Given the description of an element on the screen output the (x, y) to click on. 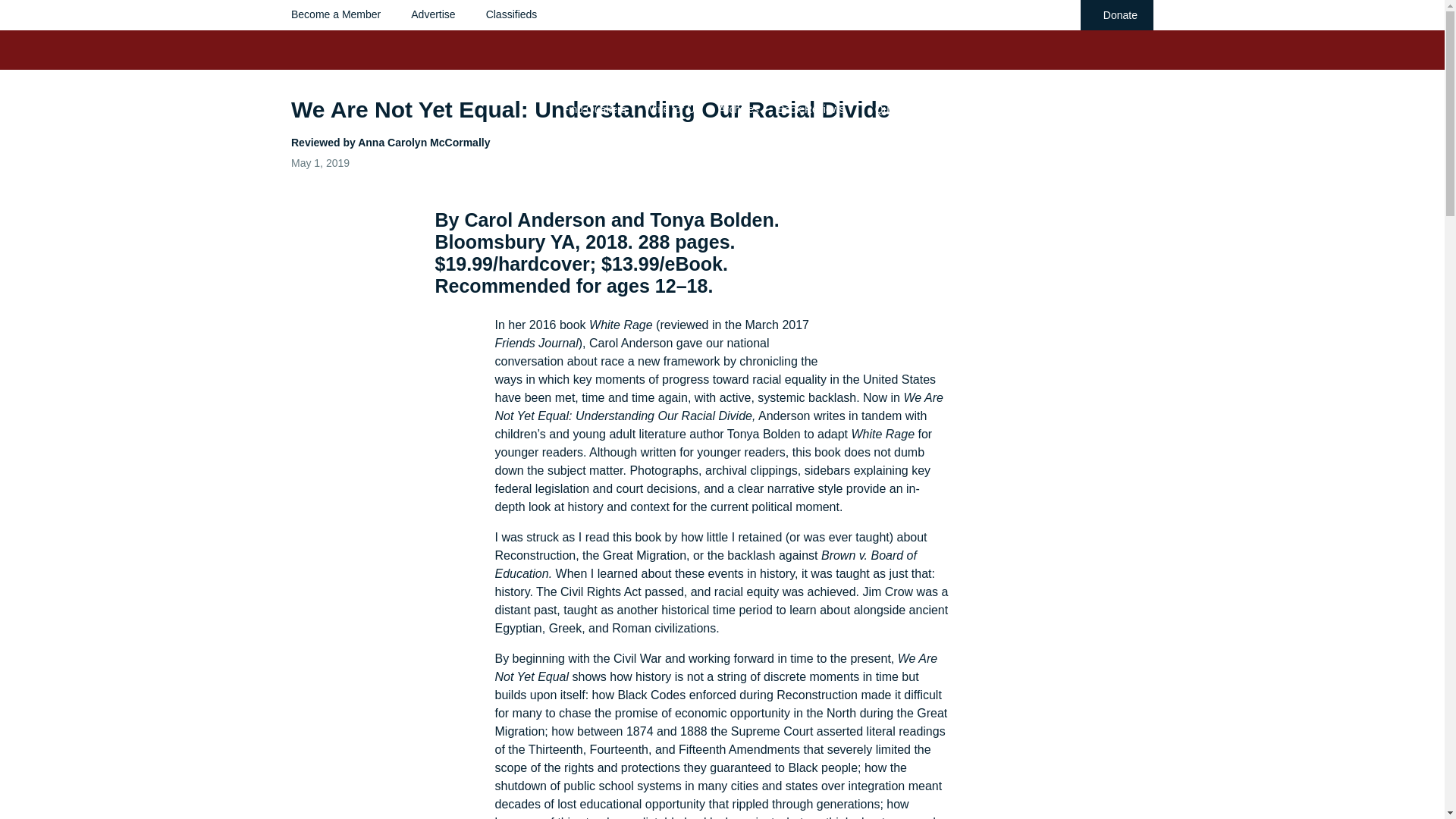
About (1102, 108)
Classifieds (511, 14)
Quaker.org (1043, 108)
Find Quakers (594, 108)
QuakerSpeak (907, 108)
Book Reviews (810, 108)
Become a Member (335, 14)
Archives (737, 108)
Donate (1116, 15)
Write for Us (672, 108)
